Given the description of an element on the screen output the (x, y) to click on. 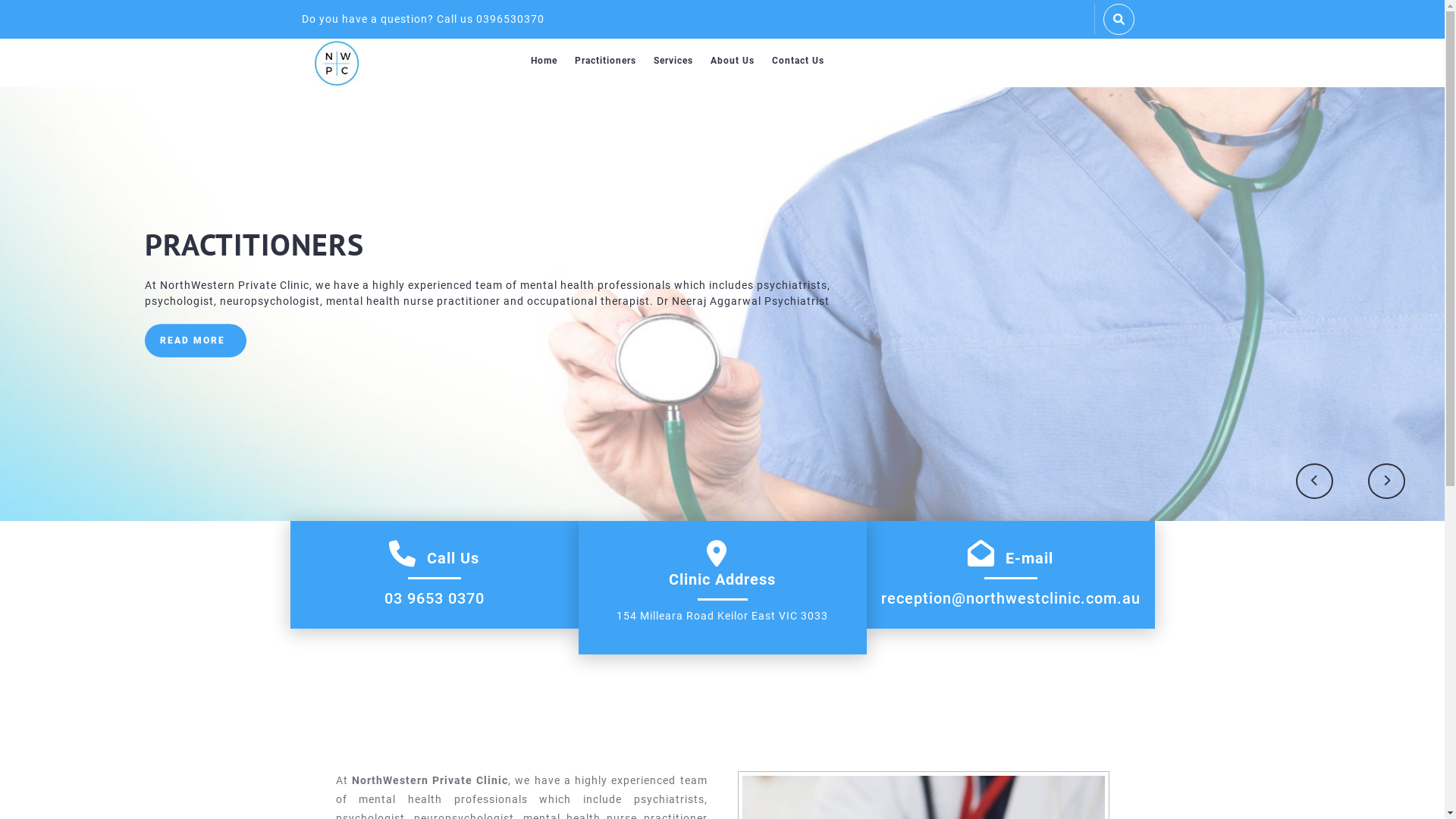
PRACTITIONERS Element type: text (253, 243)
Contact Us Element type: text (797, 60)
Practitioners Element type: text (605, 60)
Services Element type: text (673, 60)
Home Element type: text (543, 60)
Previous Element type: text (1313, 480)
Next Element type: text (1386, 480)
About Us Element type: text (732, 60)
READ MORE
READ MORE Element type: text (194, 340)
